Given the description of an element on the screen output the (x, y) to click on. 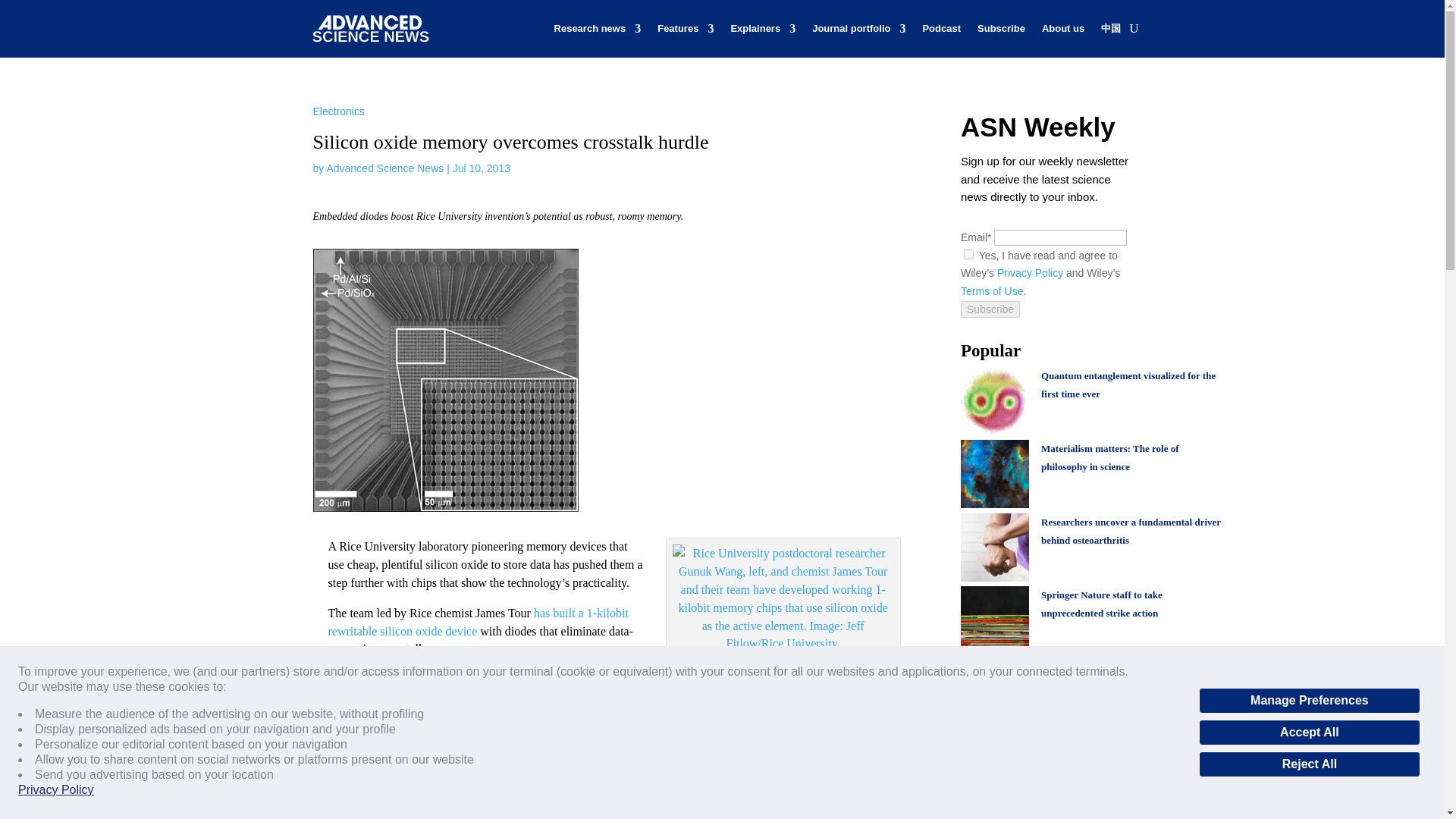
Features (685, 28)
1-kilobyte-crossbar-memory (445, 379)
Privacy Policy (55, 789)
true (968, 254)
Manage Preferences (1309, 700)
Research news (598, 28)
Explainers (762, 28)
Accept All (1309, 732)
Journal portfolio (858, 28)
Reject All (1309, 764)
